Given the description of an element on the screen output the (x, y) to click on. 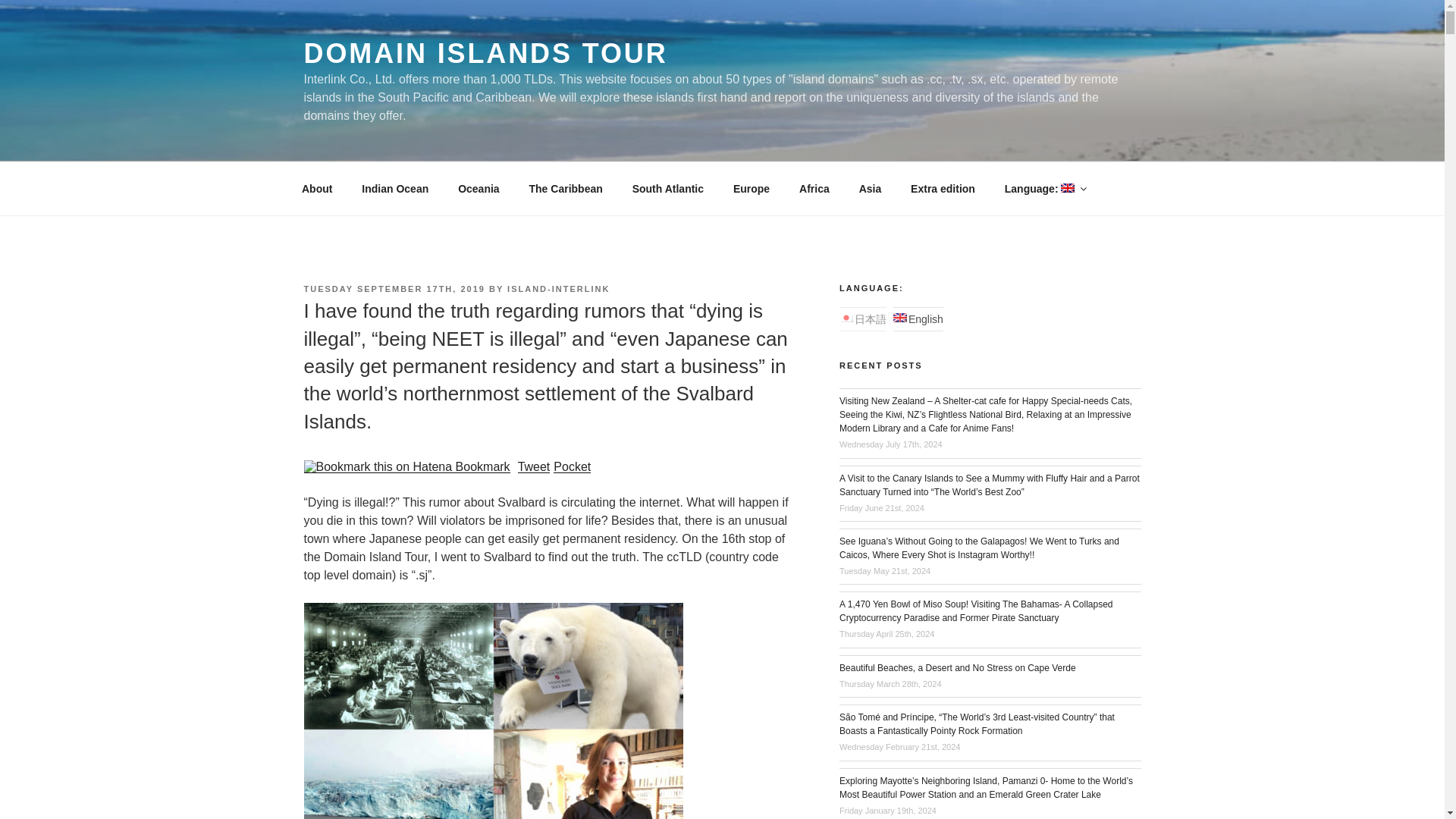
Bookmark this on Hatena Bookmark (405, 466)
South Atlantic (667, 188)
Indian Ocean (395, 188)
Extra edition (943, 188)
DOMAIN ISLANDS TOUR (484, 52)
About (316, 188)
English (1045, 188)
TUESDAY SEPTEMBER 17TH, 2019 (393, 288)
Europe (751, 188)
